Given the description of an element on the screen output the (x, y) to click on. 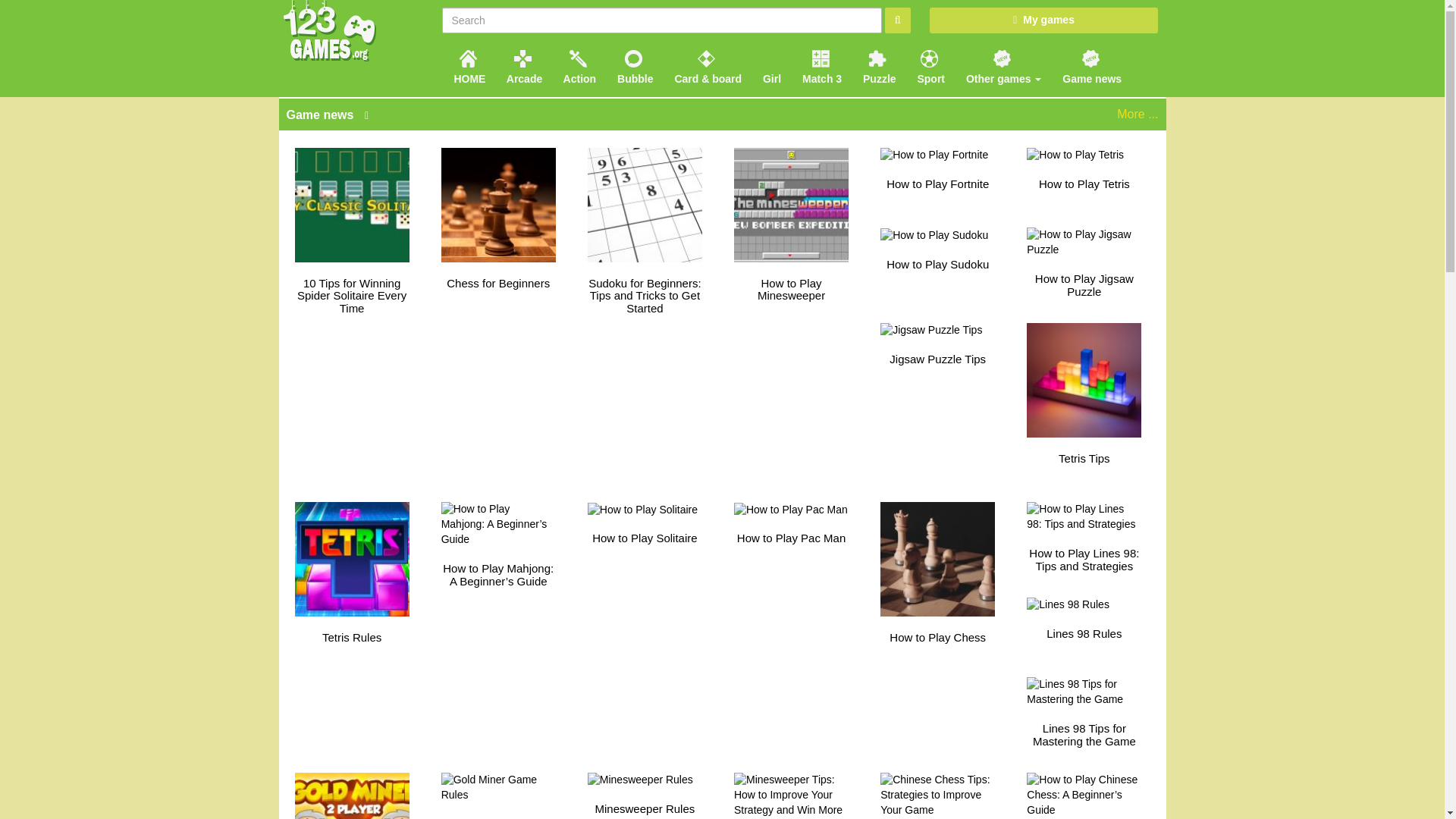
How to Play Lines 98: Tips and Strategies (1083, 531)
How to Play Sudoku (937, 250)
 Bubble (633, 65)
Other games (1001, 65)
How to Play Pac Man (791, 524)
How to Play Jigsaw Puzzle (1083, 257)
Arcade (523, 65)
More ... (1136, 114)
 Other games (1001, 65)
Bubble (633, 65)
